Given the description of an element on the screen output the (x, y) to click on. 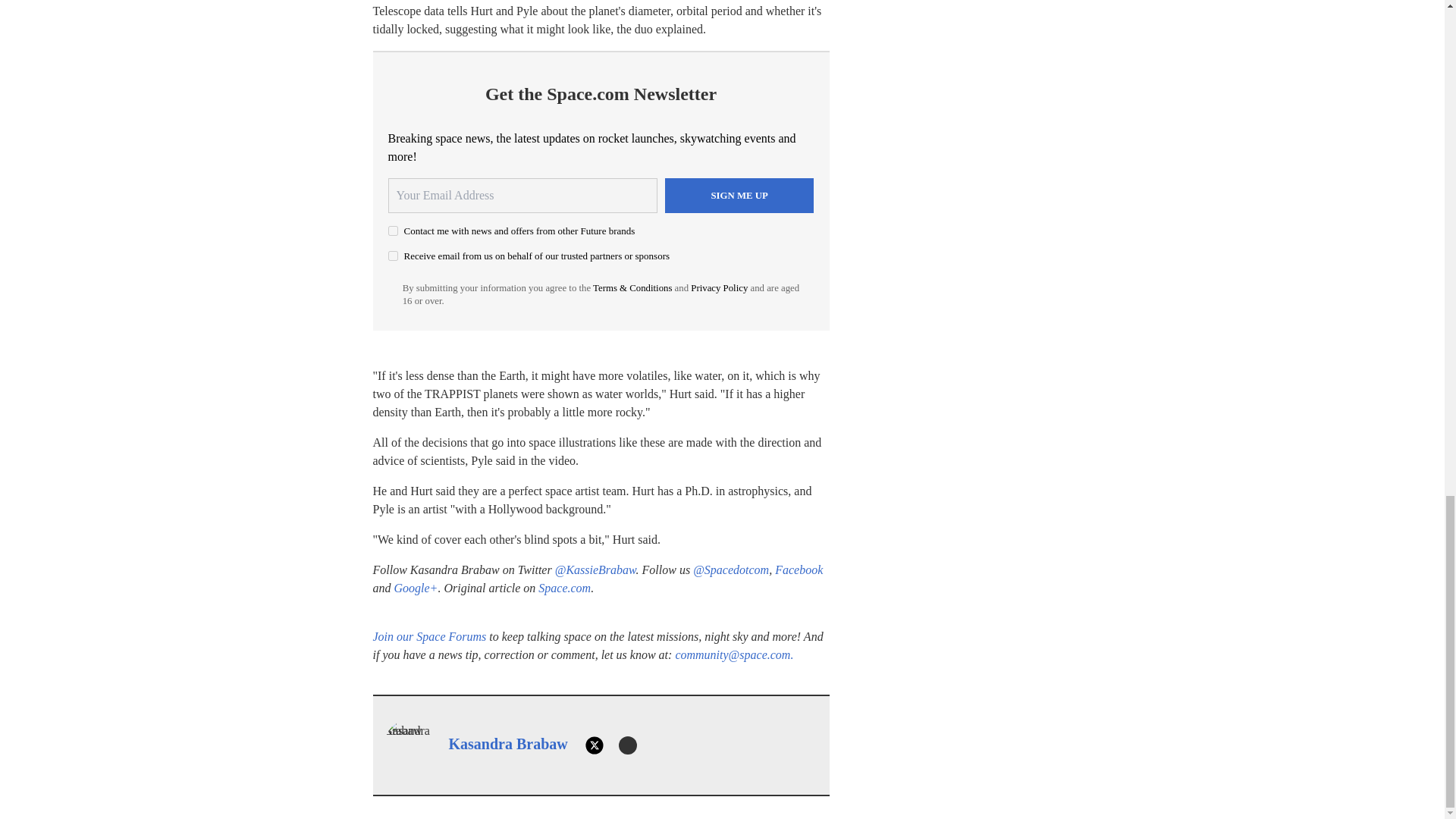
Sign me up (739, 195)
on (392, 255)
on (392, 230)
